Given the description of an element on the screen output the (x, y) to click on. 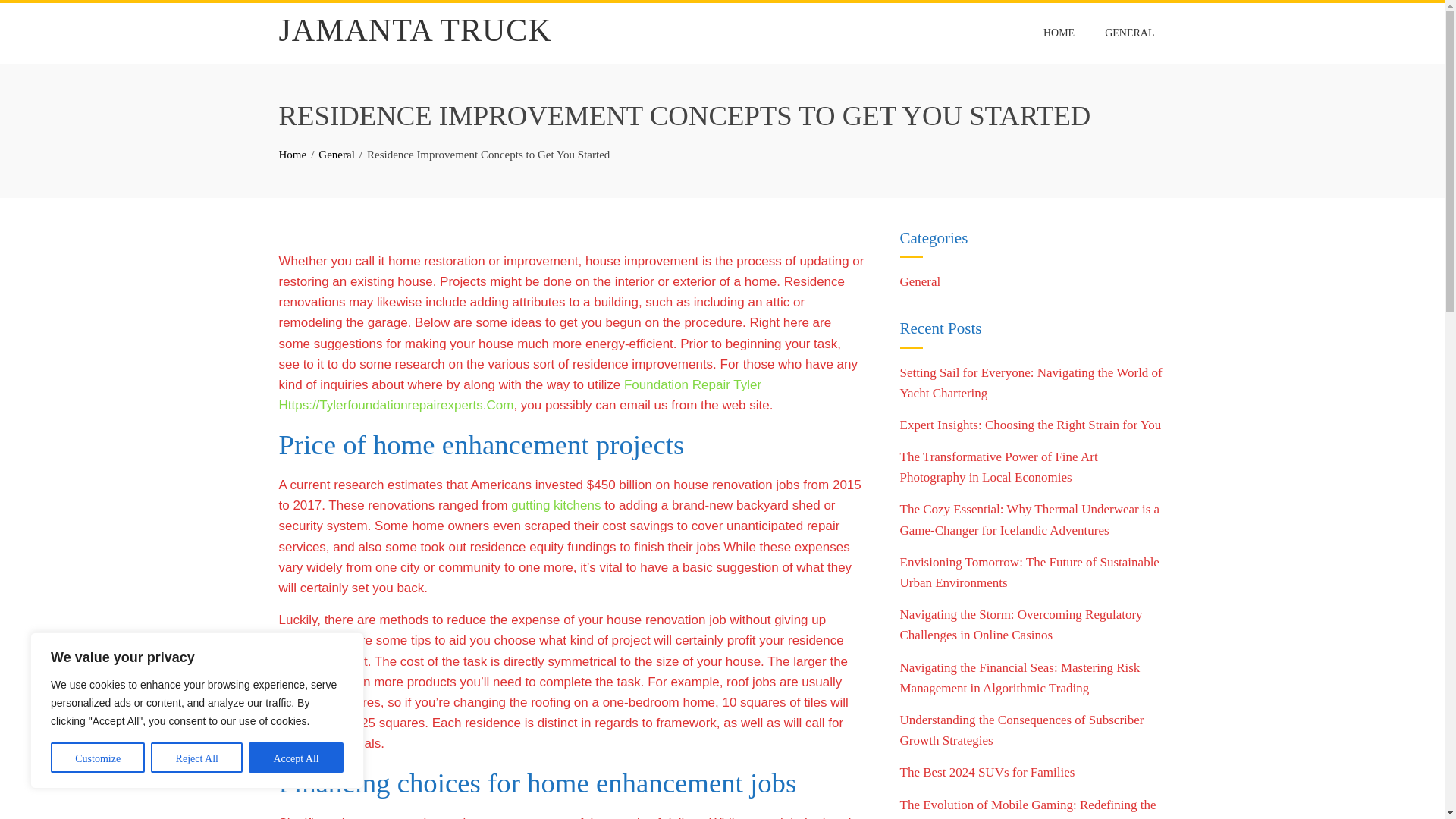
Expert Insights: Choosing the Right Strain for You (1029, 424)
gutting kitchens (555, 504)
Customize (97, 757)
Reject All (197, 757)
The Best 2024 SUVs for Families (986, 771)
HOME (1059, 32)
Accept All (295, 757)
